Given the description of an element on the screen output the (x, y) to click on. 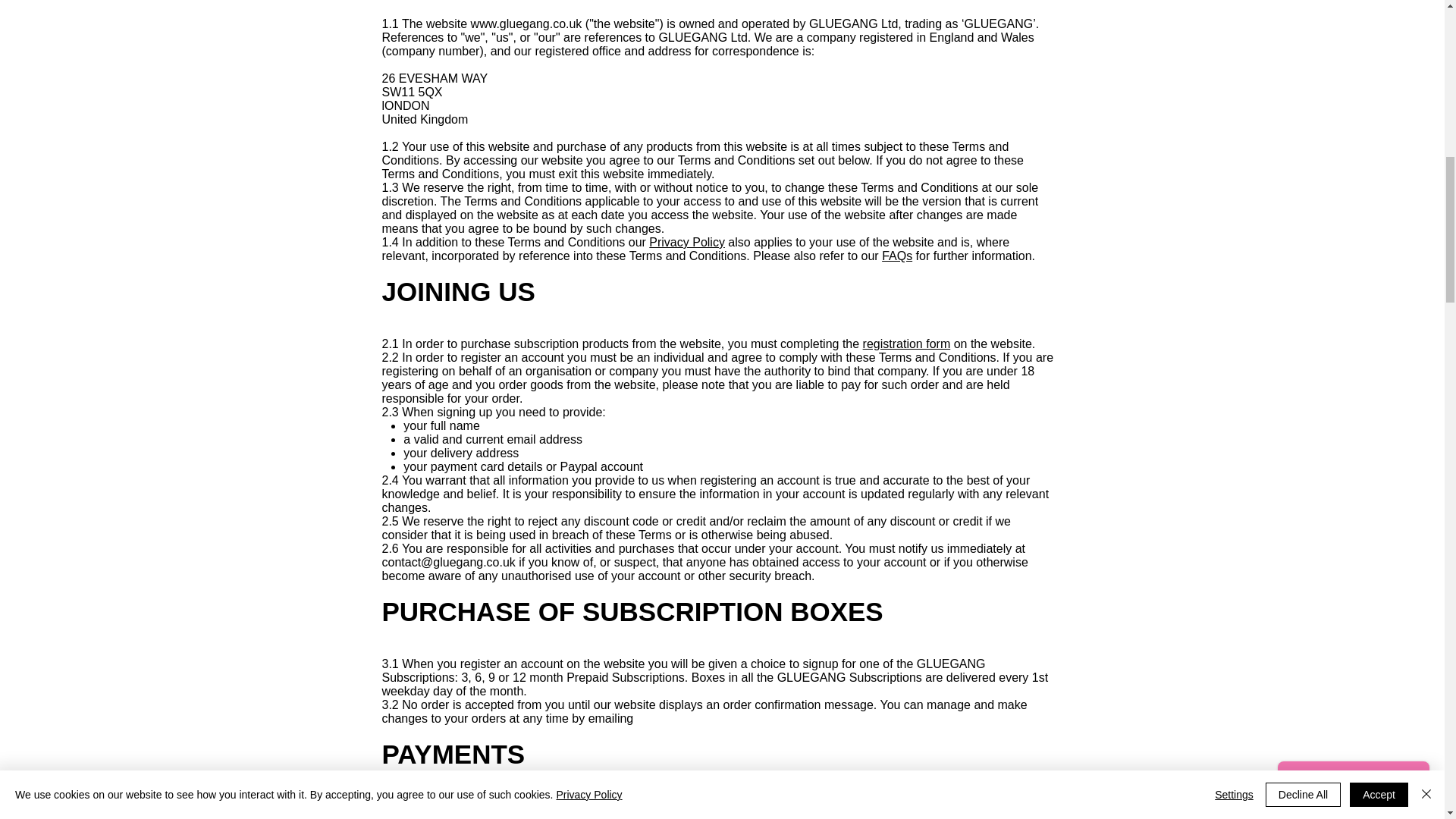
Privacy Policy (687, 241)
FAQs (897, 255)
registration form (906, 343)
www.gluegang.co.uk (526, 23)
